Given the description of an element on the screen output the (x, y) to click on. 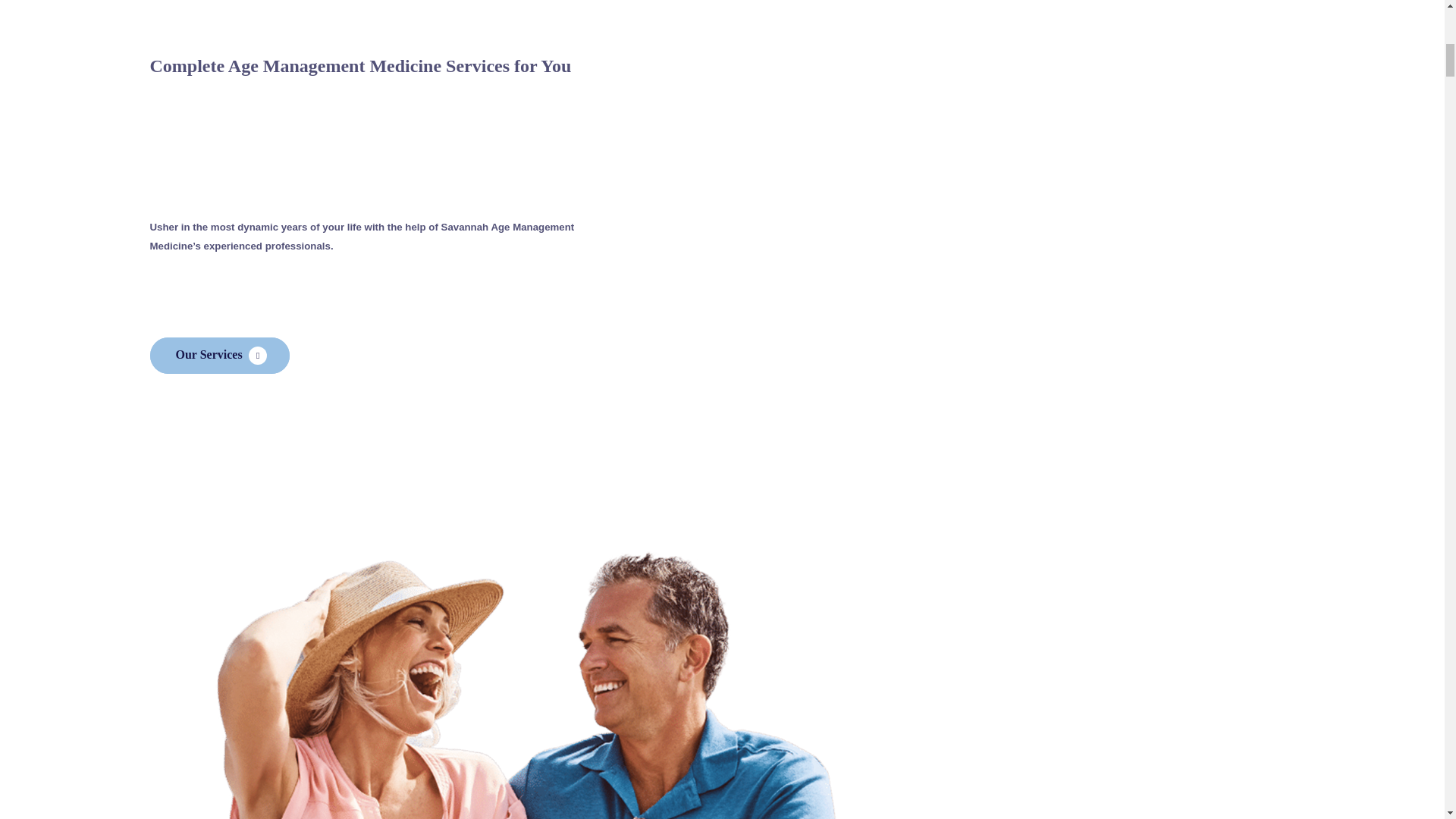
Our Services (219, 355)
